Given the description of an element on the screen output the (x, y) to click on. 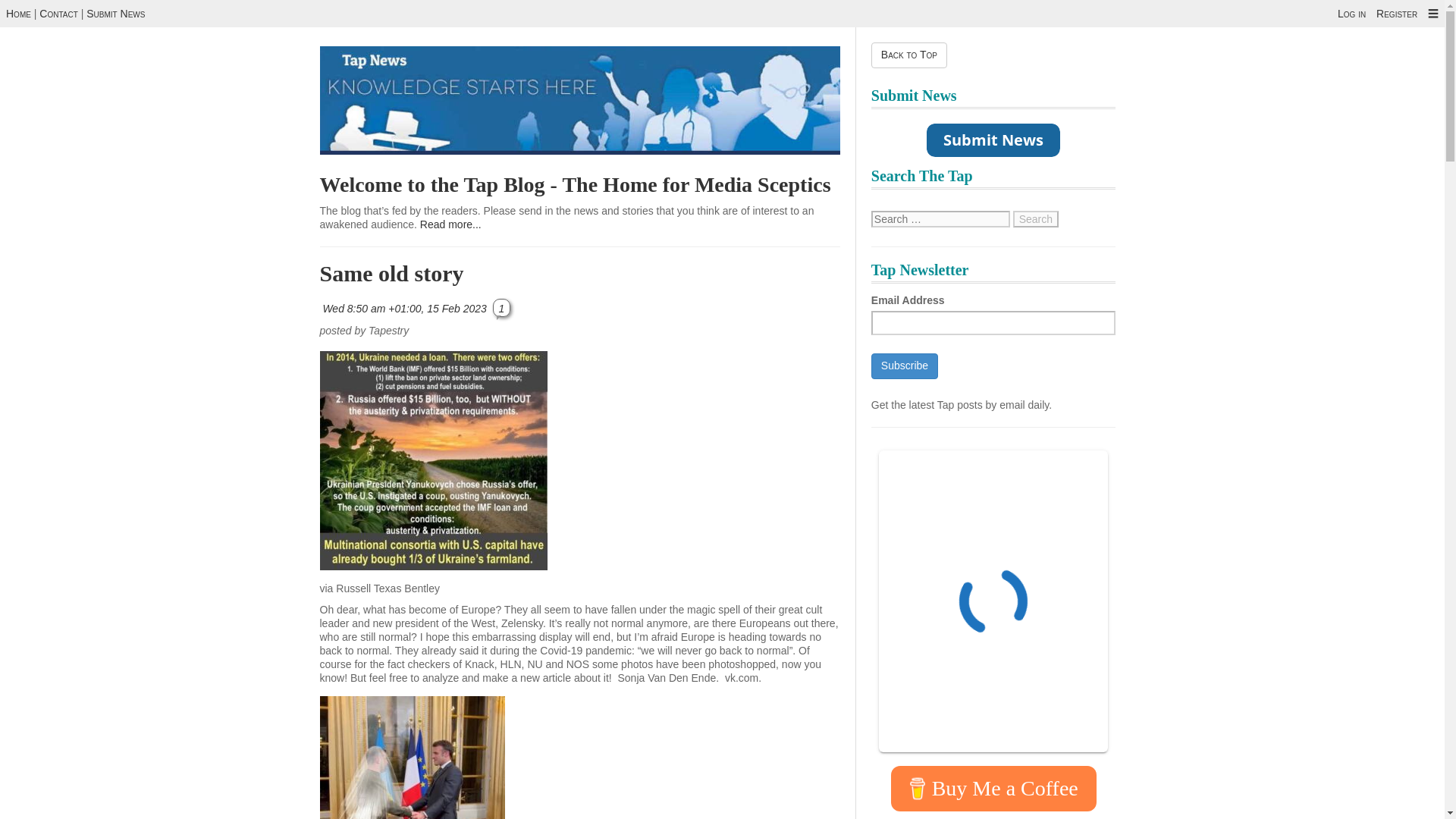
Welcome to the Tap Blog - The Home for Media Sceptics (575, 184)
Subscribe (903, 365)
Back to Top (908, 54)
Contact Us (114, 13)
Search (1035, 218)
Permanent Link to Same old story (392, 273)
Back to Top (908, 54)
Permanent Link to Same old story (405, 308)
Search (1035, 218)
1 (502, 307)
